Given the description of an element on the screen output the (x, y) to click on. 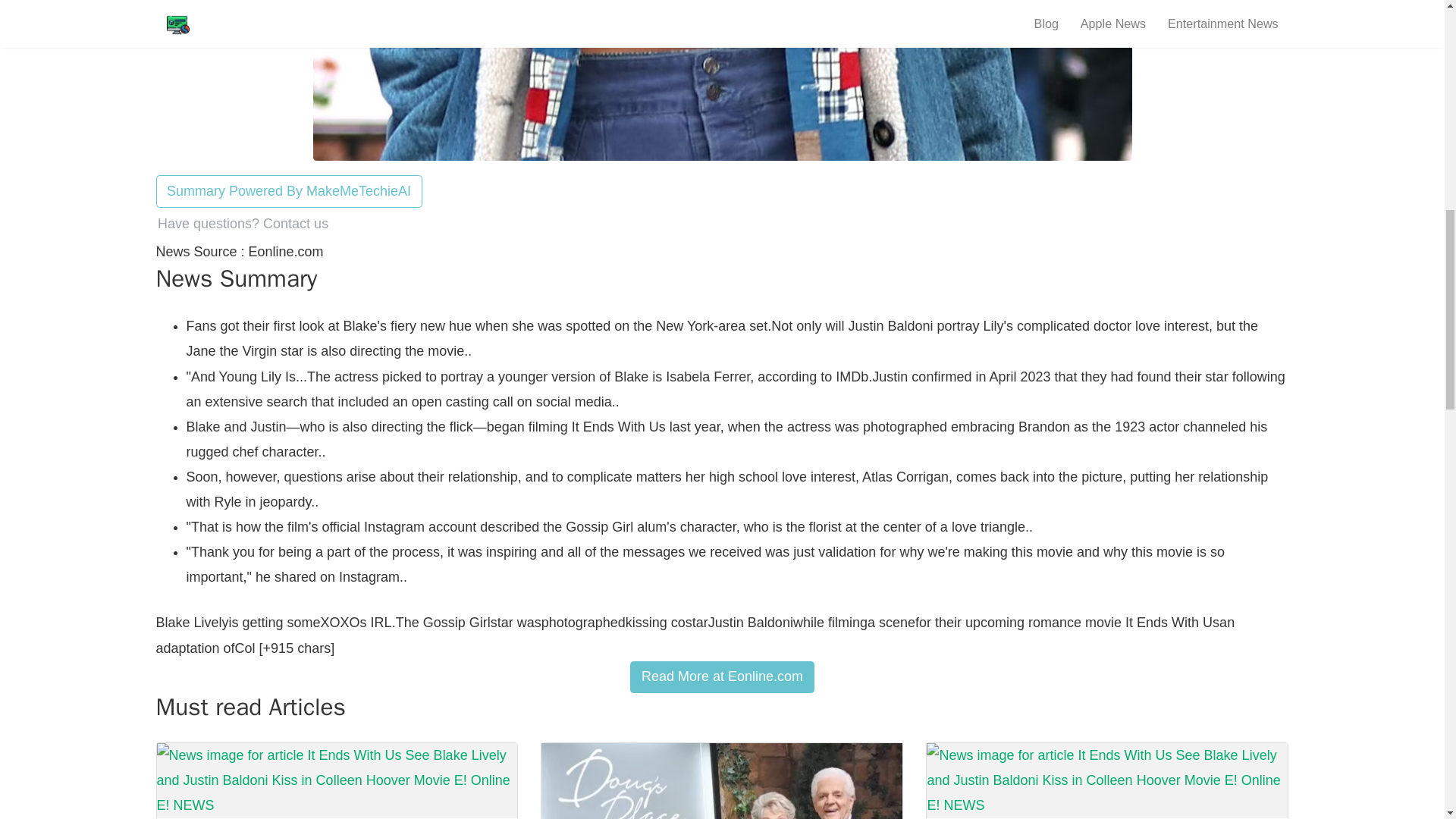
Summary Powered By MakeMeTechieAI (288, 191)
Have questions? Contact us (243, 224)
Read More at Eonline.com (721, 676)
Read More at Eonline.com (721, 676)
